Given the description of an element on the screen output the (x, y) to click on. 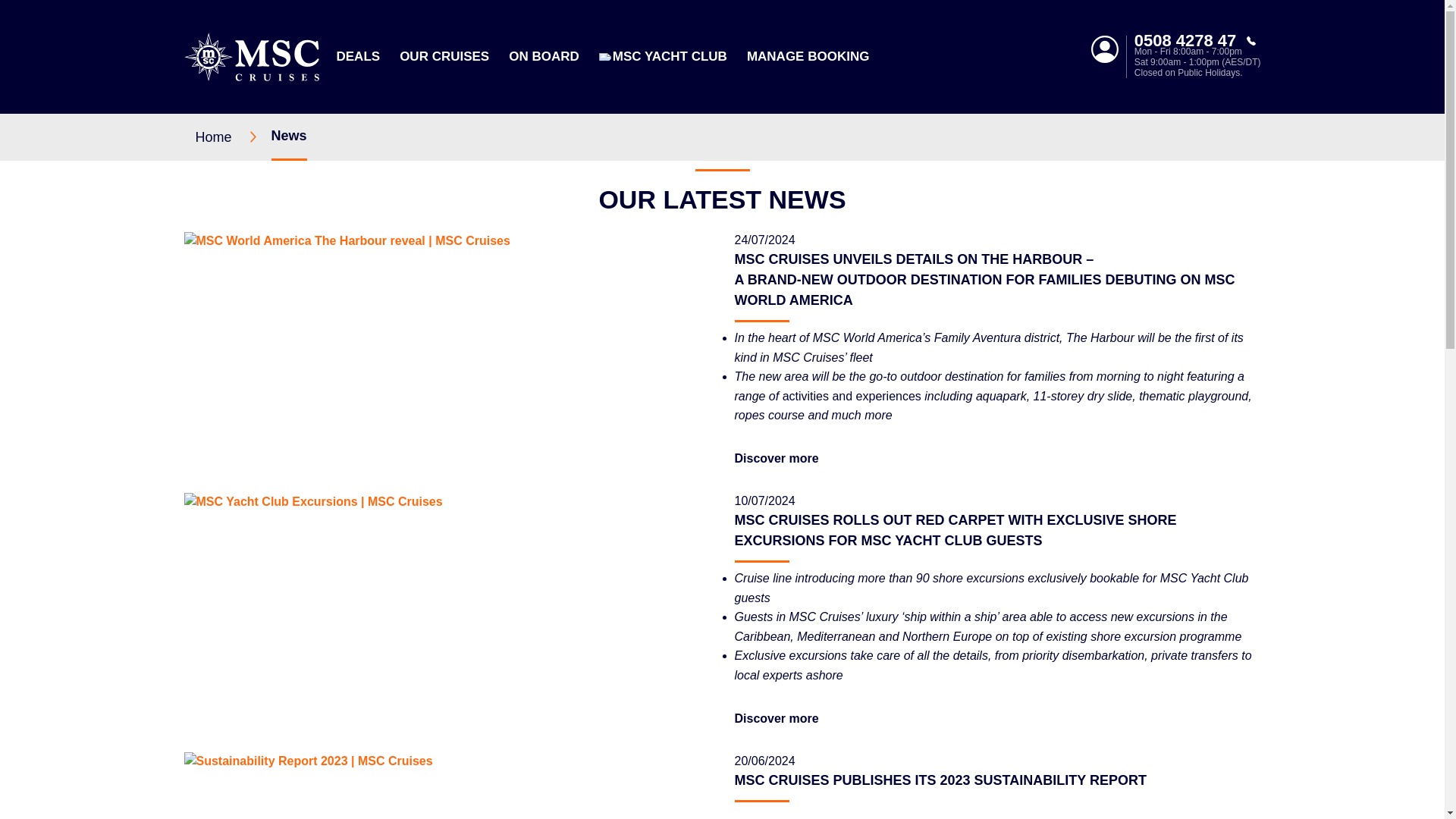
MSC YACHT CLUB (669, 56)
Discover more (775, 458)
MANAGE BOOKING (807, 56)
msc cruises logo (250, 56)
Search (1071, 155)
0508 4278 47 (1197, 40)
Home (232, 136)
ON BOARD (543, 56)
OUR CRUISES (443, 56)
News (288, 135)
DEALS (358, 56)
